Given the description of an element on the screen output the (x, y) to click on. 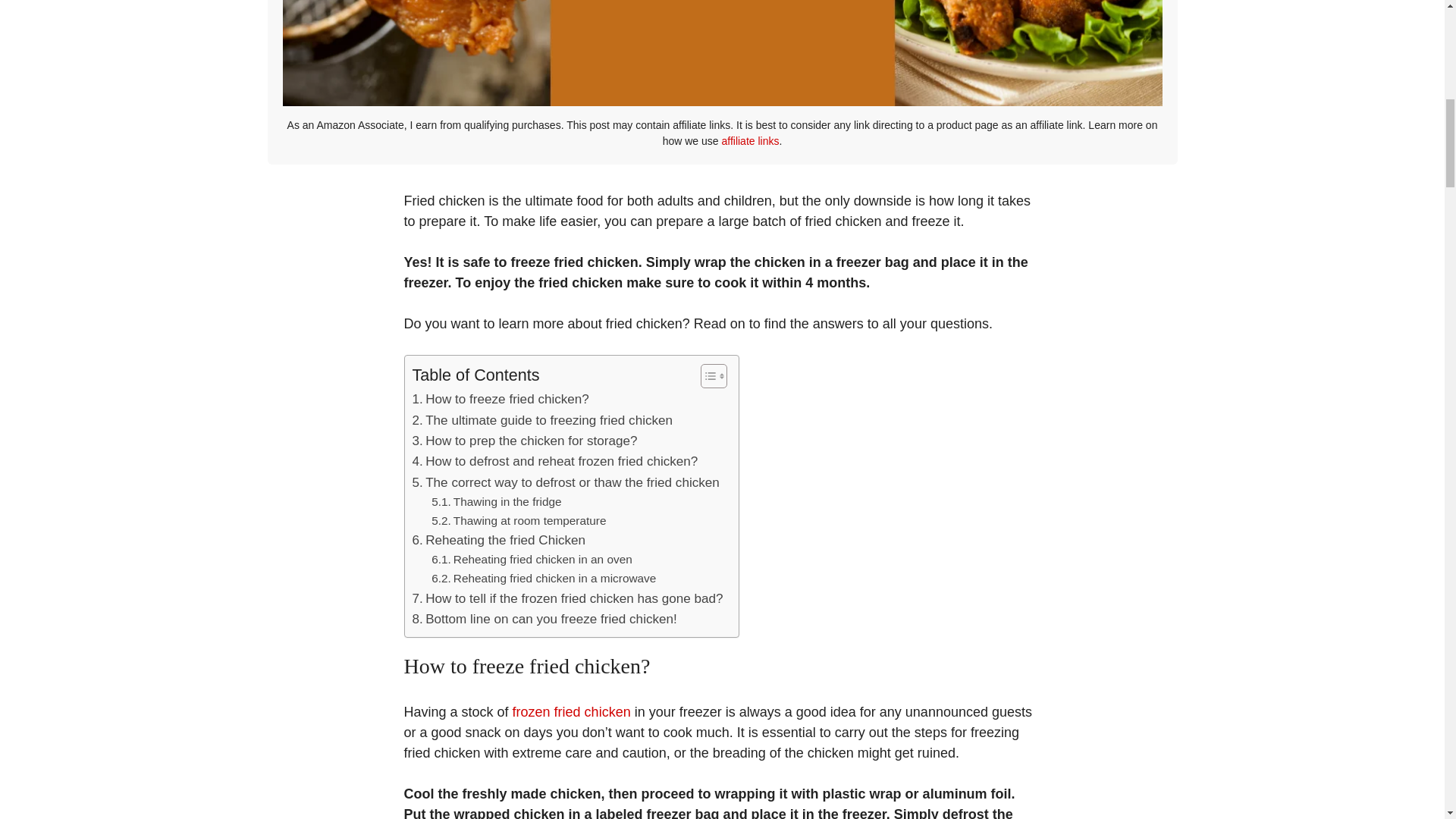
Thawing at room temperature (517, 520)
The correct way to defrost or thaw the fried chicken (565, 482)
The correct way to defrost or thaw the fried chicken (565, 482)
affiliate links (749, 141)
How to defrost and reheat frozen fried chicken? (555, 461)
Thawing in the fridge (495, 502)
Reheating fried chicken in a microwave (543, 578)
The ultimate guide to freezing fried chicken (542, 419)
Reheating the fried Chicken (499, 539)
How to prep the chicken for storage? (524, 440)
Thawing in the fridge (495, 502)
How to freeze fried chicken?  (502, 399)
Reheating fried chicken in a microwave (543, 578)
How to prep the chicken for storage? (524, 440)
How to defrost and reheat frozen fried chicken? (555, 461)
